Given the description of an element on the screen output the (x, y) to click on. 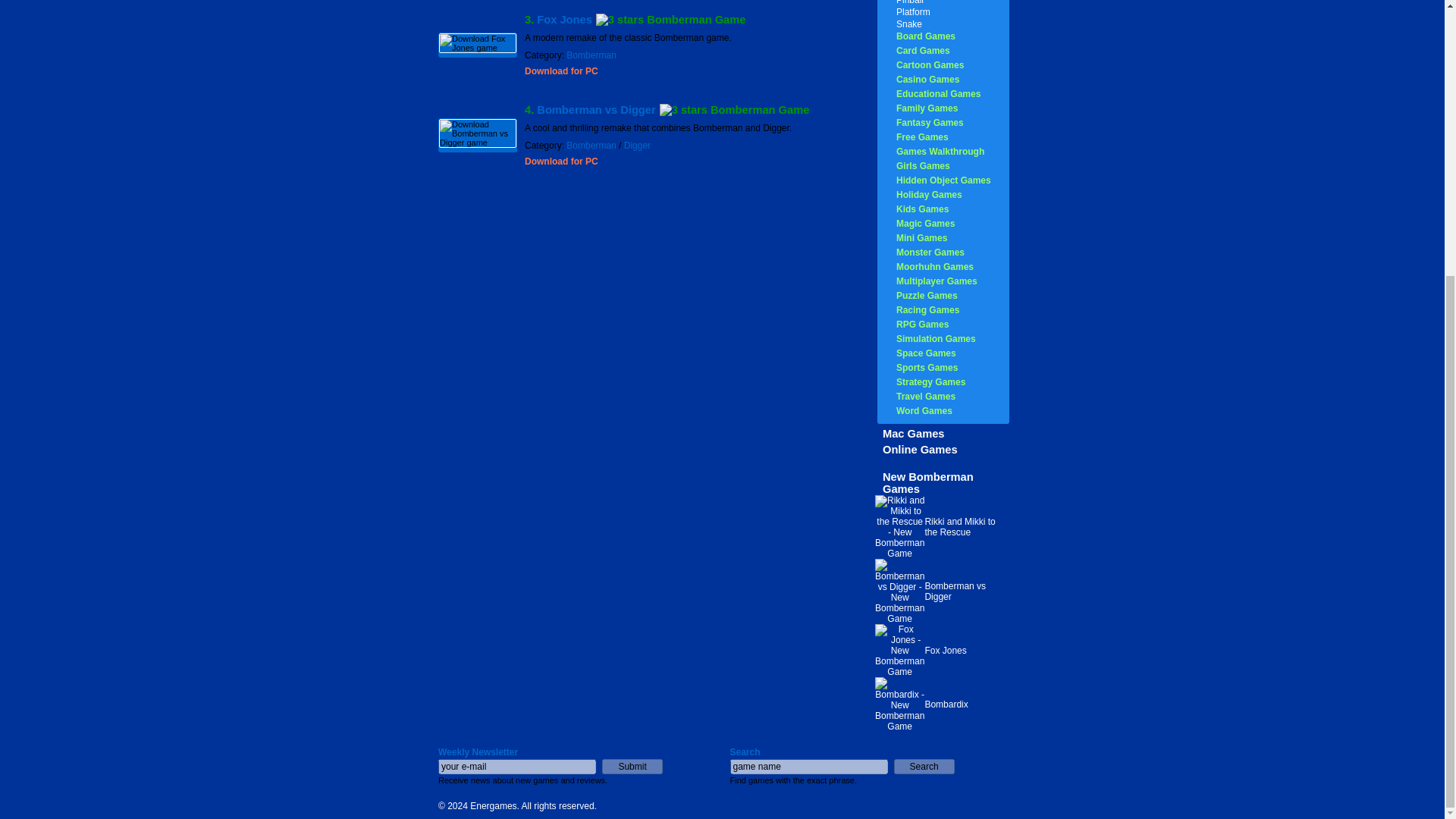
your e-mail (516, 766)
Download for PC (561, 71)
Snake (908, 23)
Board Games (925, 36)
Fox Jones (564, 19)
Bomberman vs Digger (596, 110)
Cartoon Games (929, 64)
Bomberman (590, 54)
Submit (632, 766)
Bomberman (590, 145)
